Given the description of an element on the screen output the (x, y) to click on. 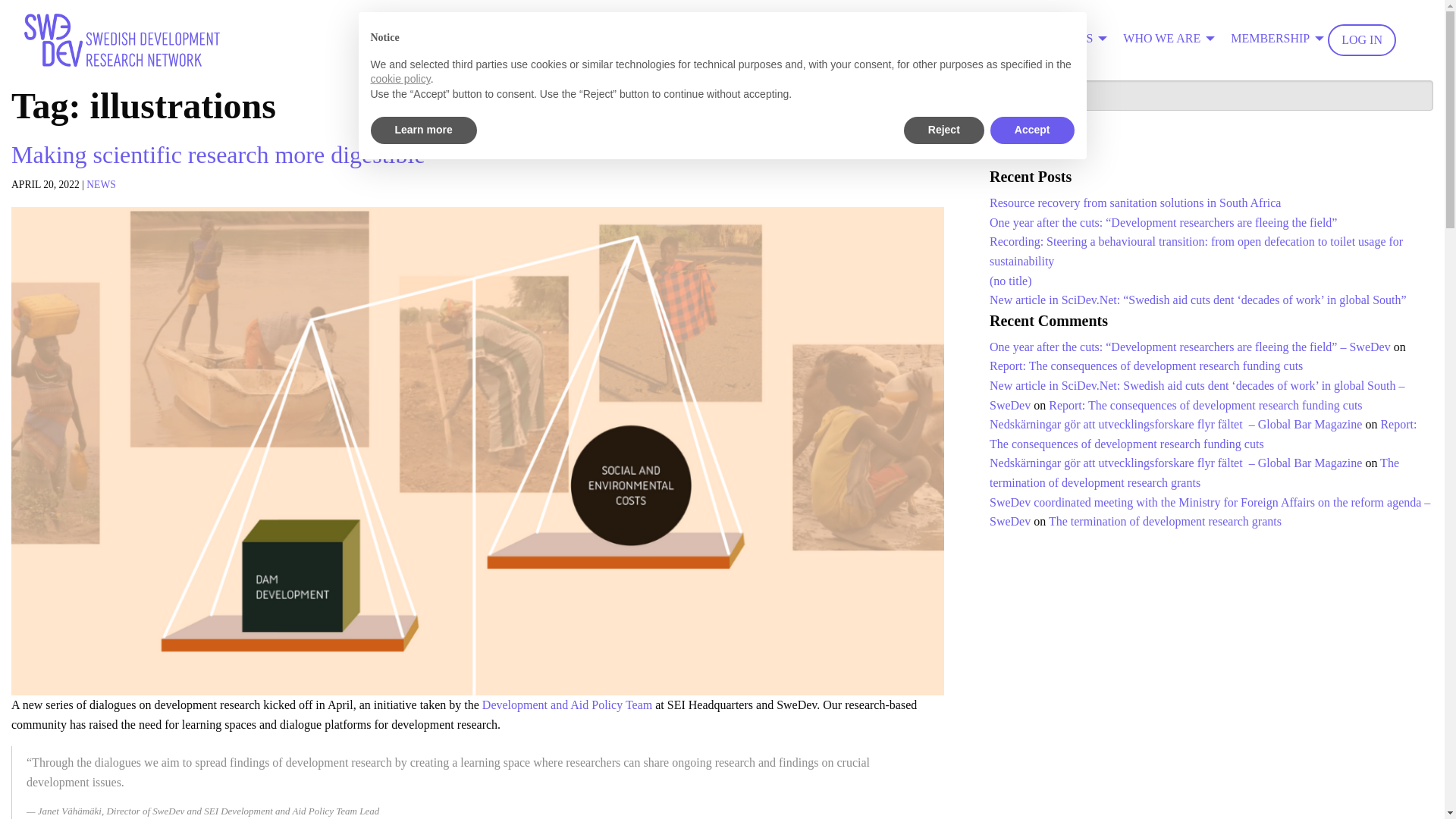
OPPORTUNITIES (1050, 38)
Making scientific research more digestible (218, 154)
Search (1016, 137)
REGISTRY (815, 38)
Search for: (1211, 95)
Search (1016, 137)
